Given the description of an element on the screen output the (x, y) to click on. 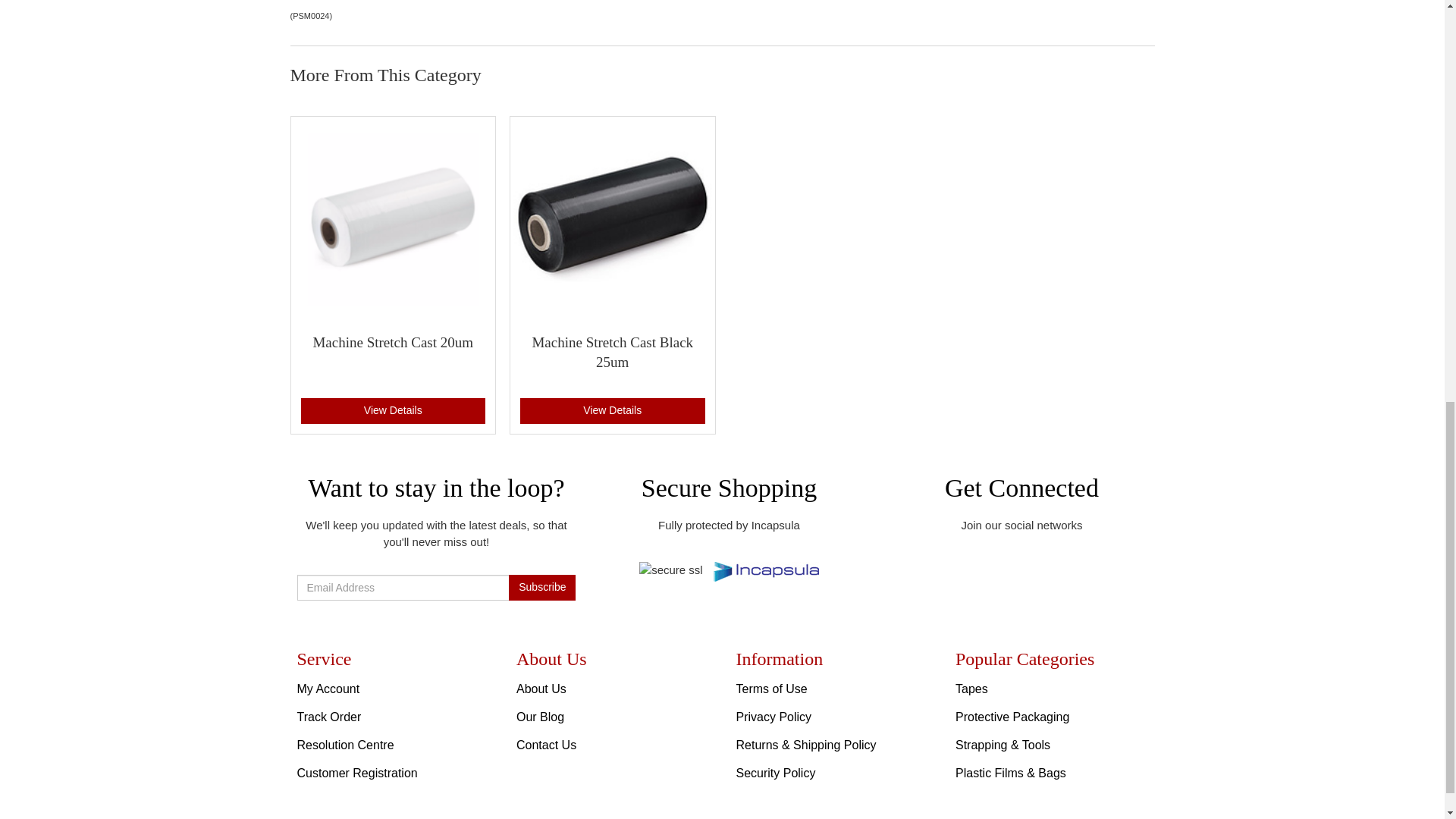
Buying Options (391, 411)
Subscribe (541, 587)
Machine Stretch Cast 20um (393, 342)
Buying Options (611, 411)
Machine Stretch Cast Black 25um (612, 352)
